Given the description of an element on the screen output the (x, y) to click on. 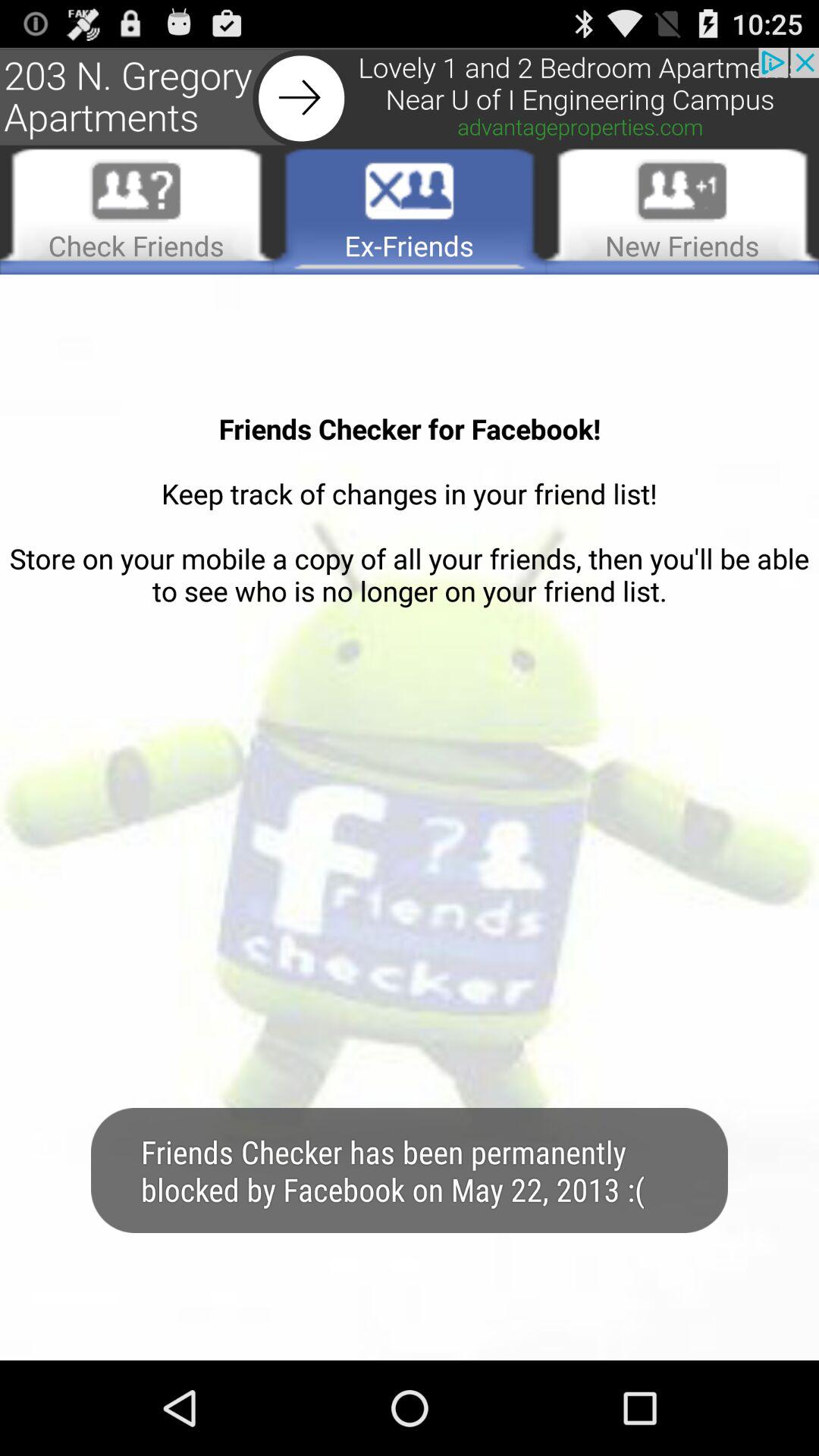
advertisement (409, 97)
